Given the description of an element on the screen output the (x, y) to click on. 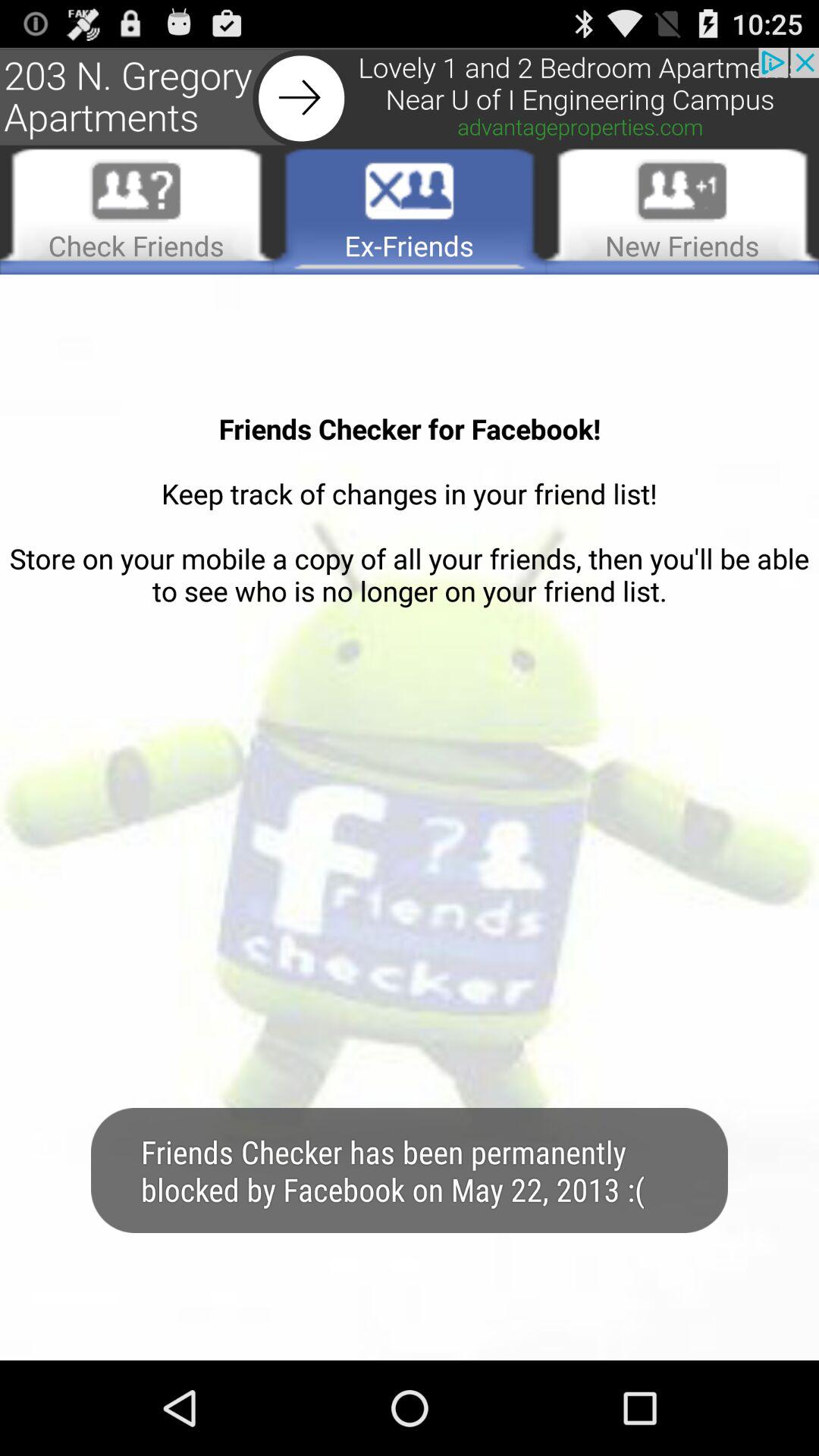
advertisement (409, 97)
